Given the description of an element on the screen output the (x, y) to click on. 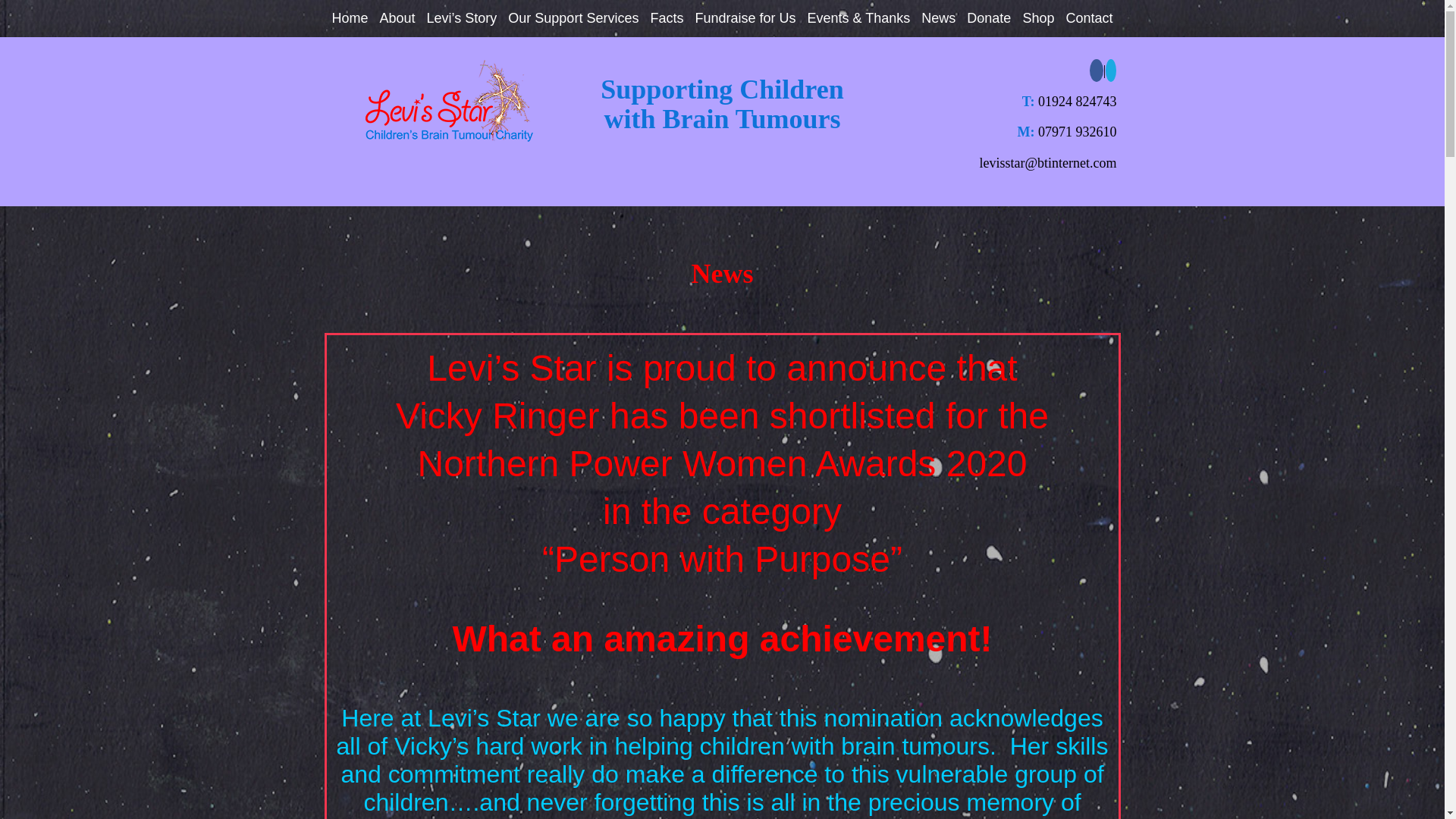
Home (349, 17)
Shop (1038, 17)
News (938, 17)
Our Support Services (573, 17)
Contact (1088, 17)
Donate (988, 17)
About (397, 17)
Facts (665, 17)
Fundraise for Us (744, 17)
